Given the description of an element on the screen output the (x, y) to click on. 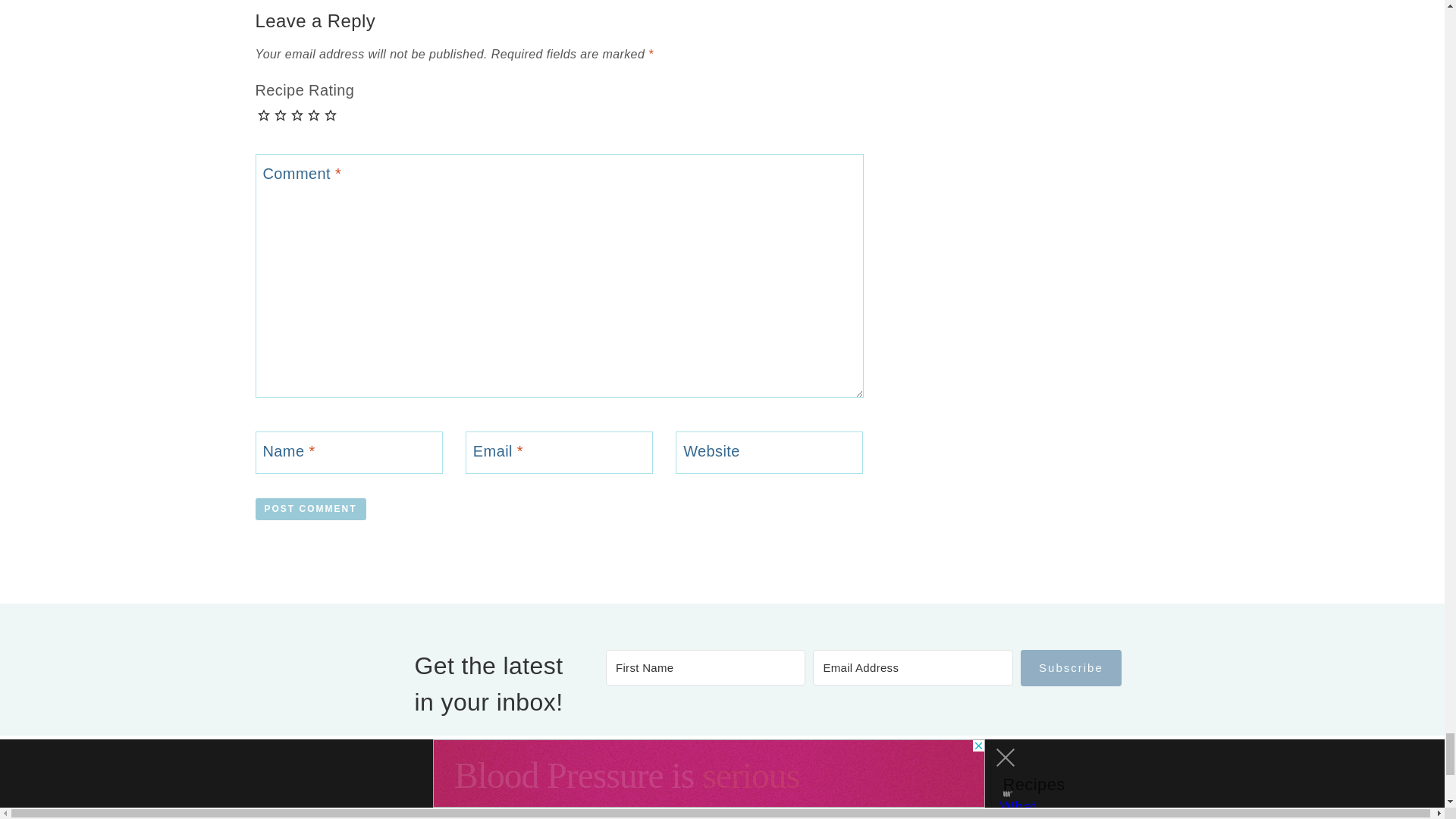
Post Comment (309, 508)
